Given the description of an element on the screen output the (x, y) to click on. 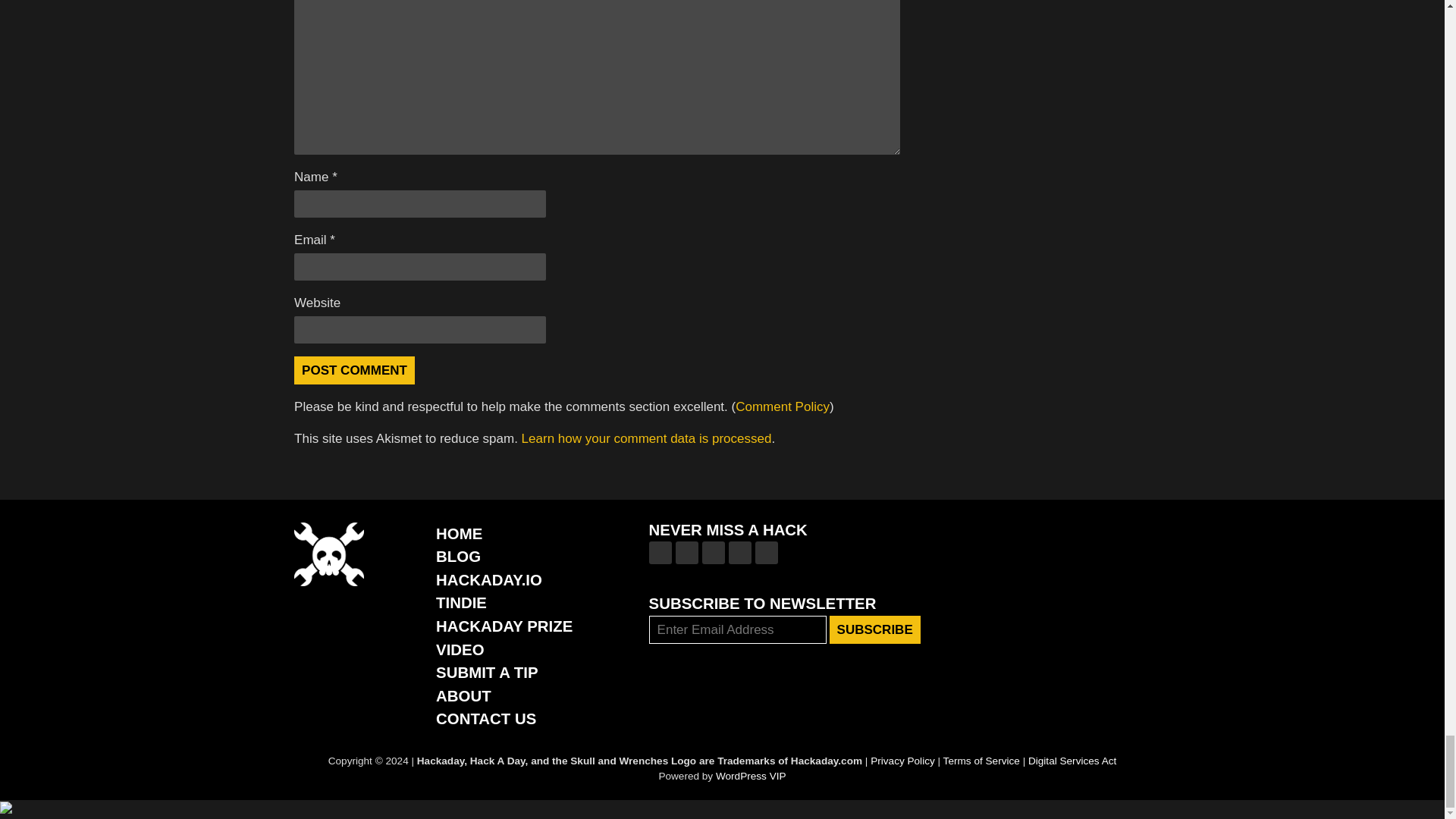
Subscribe (874, 629)
Post Comment (354, 370)
Build Something that Matters (503, 626)
